Given the description of an element on the screen output the (x, y) to click on. 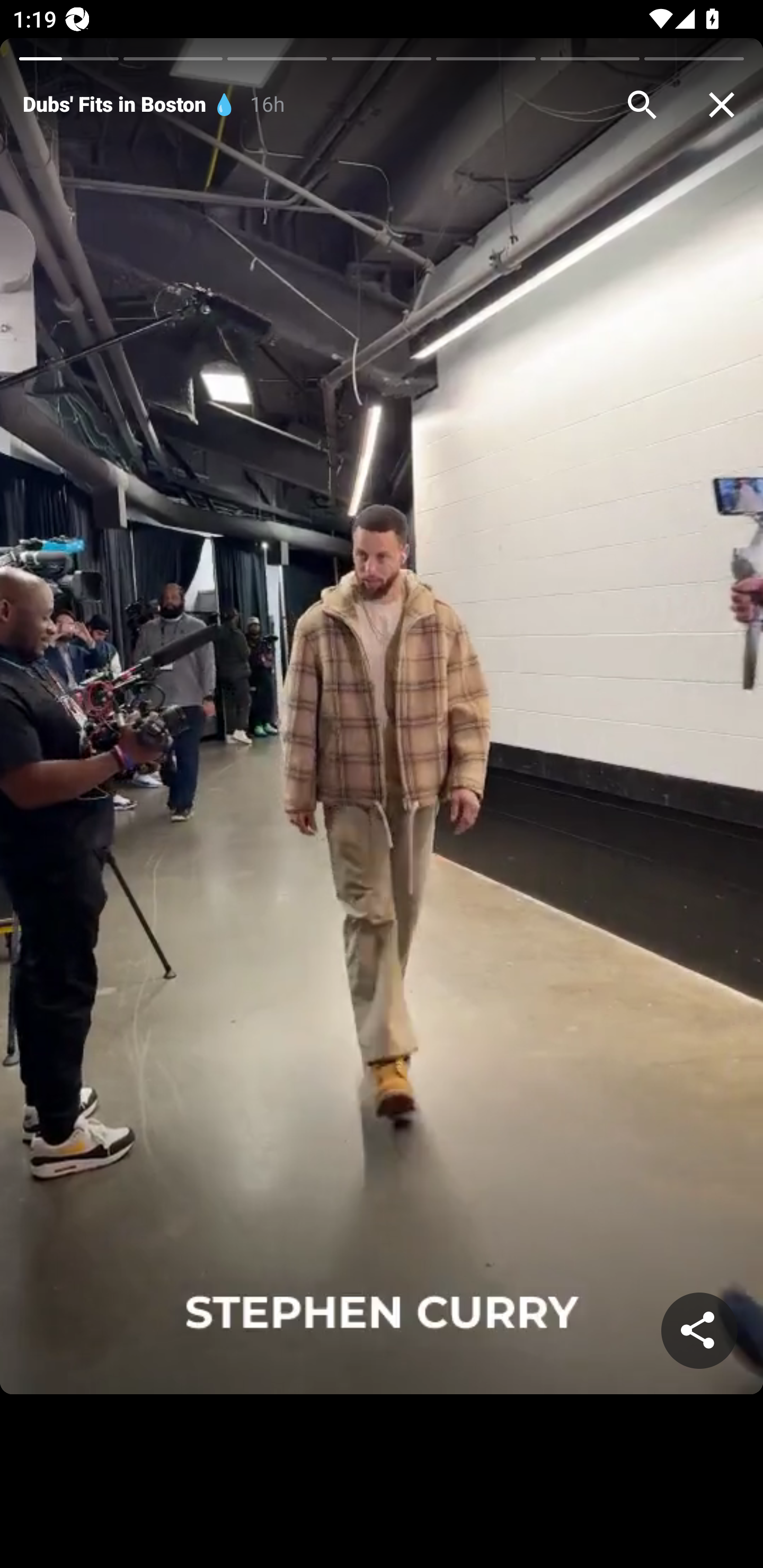
search (642, 104)
close (721, 104)
share (699, 1330)
